Given the description of an element on the screen output the (x, y) to click on. 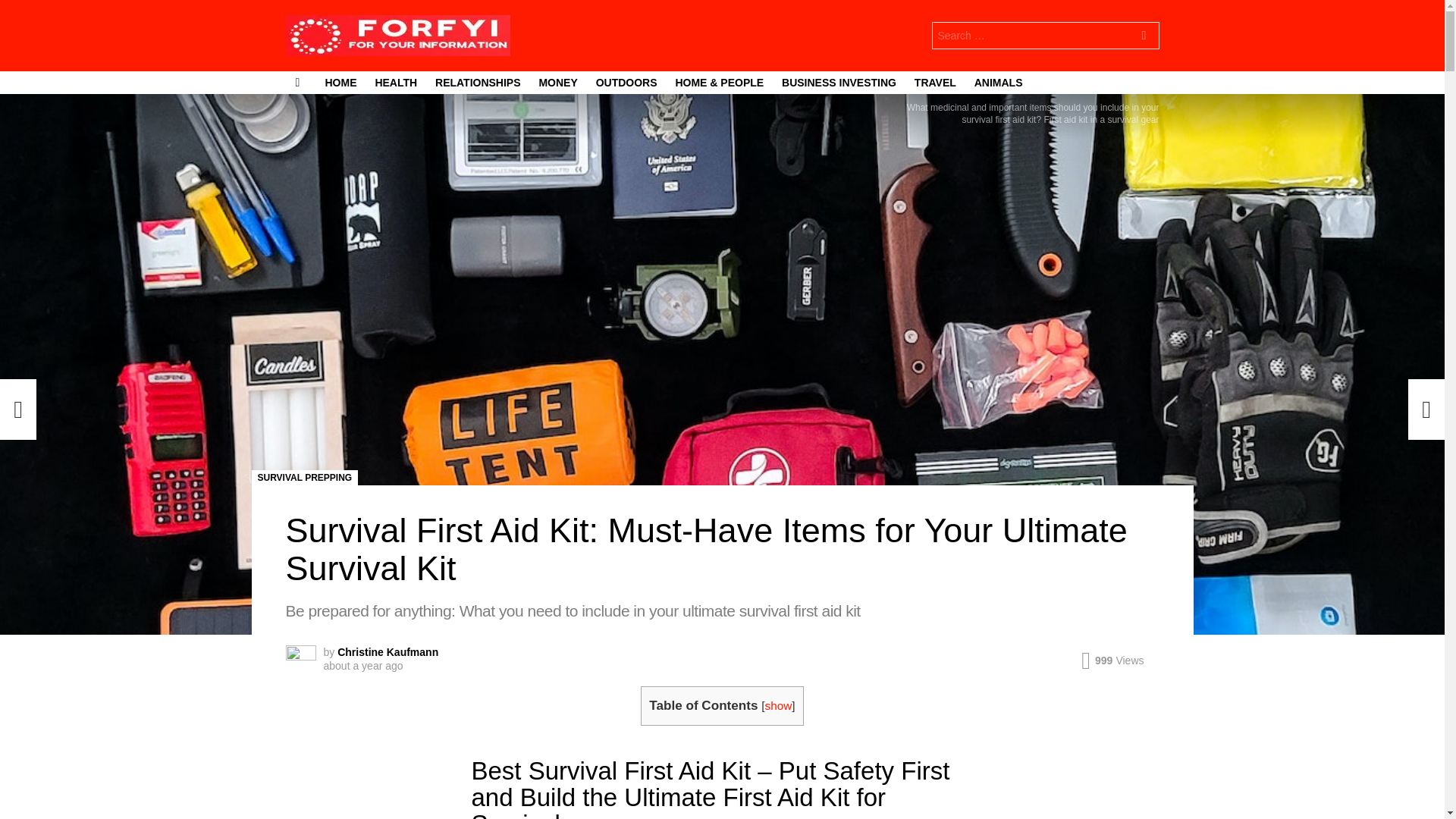
Menu (296, 82)
TRAVEL (935, 82)
RELATIONSHIPS (478, 82)
SURVIVAL PREPPING (304, 477)
Search for: (1044, 35)
HEALTH (395, 82)
HOME (340, 82)
SEARCH (1143, 37)
Christine Kaufmann (387, 652)
OUTDOORS (626, 82)
Posts by Christine Kaufmann (387, 652)
February 26, 2023, 7:52 am (363, 665)
show (778, 705)
BUSINESS INVESTING (839, 82)
MONEY (558, 82)
